Given the description of an element on the screen output the (x, y) to click on. 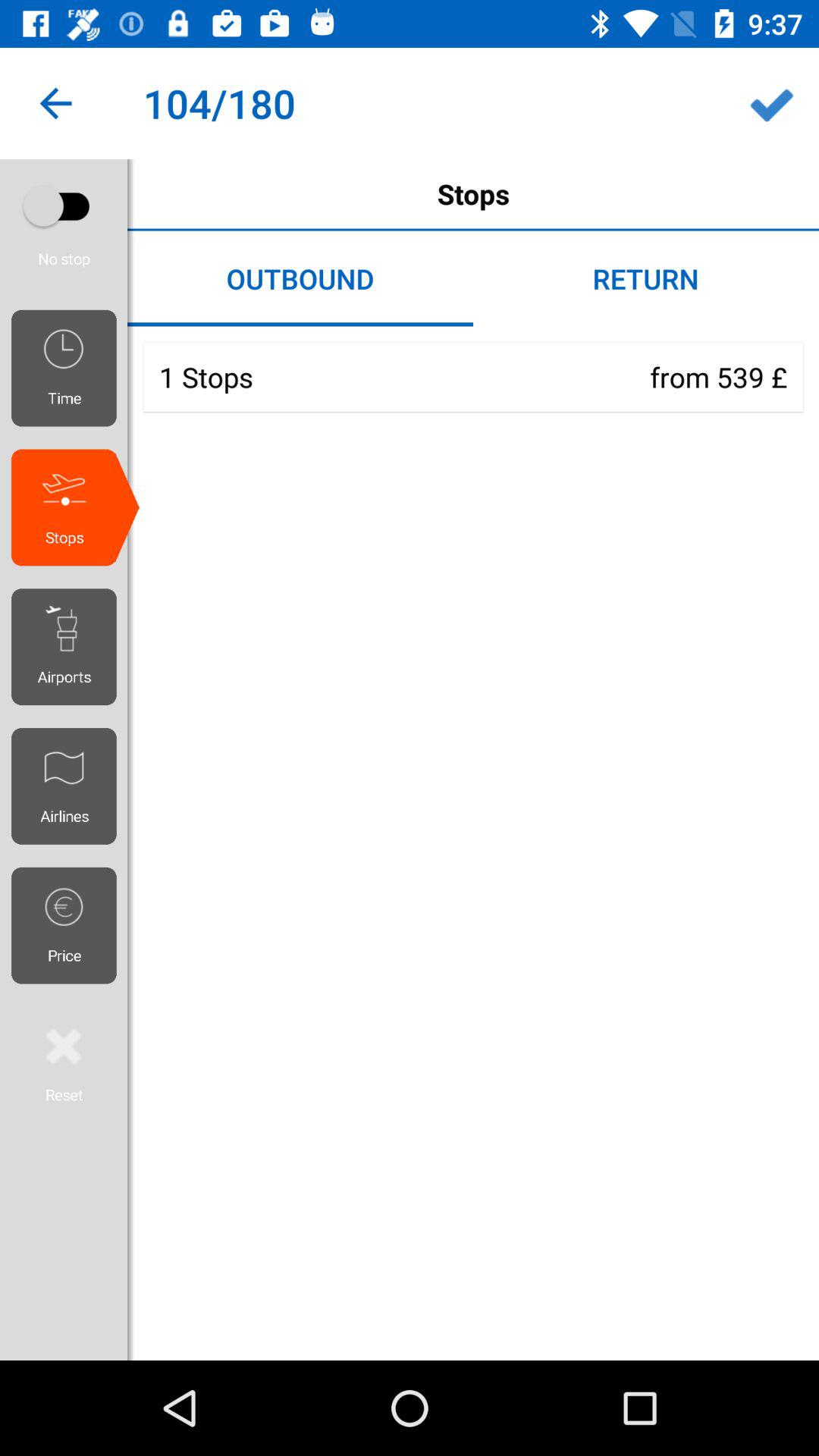
on/off (63, 206)
